Given the description of an element on the screen output the (x, y) to click on. 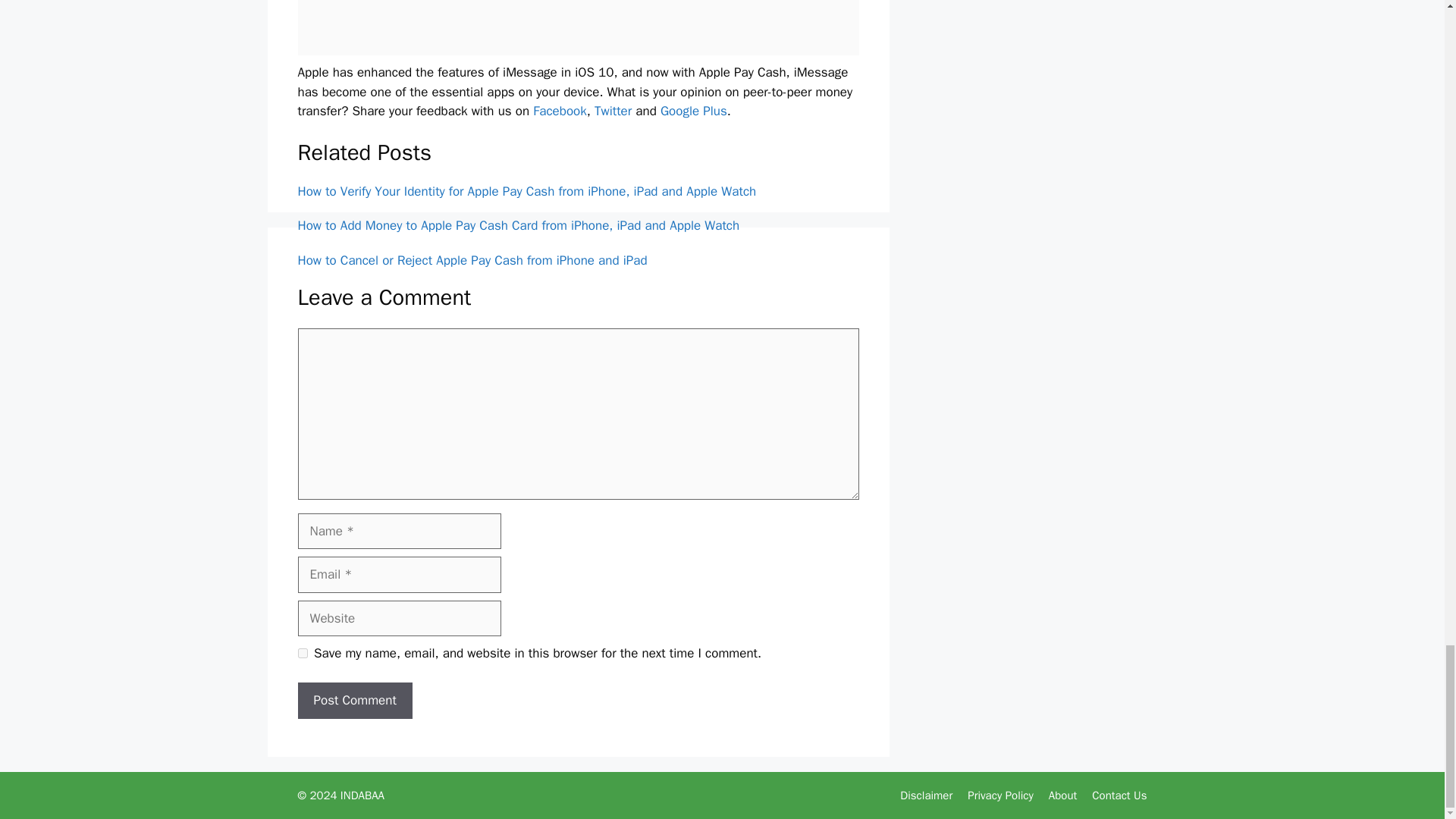
Twitter (612, 110)
Post Comment (354, 700)
Facebook (559, 110)
Google Plus (693, 110)
yes (302, 653)
How to Cancel or Reject Apple Pay Cash from iPhone and iPad (471, 260)
Post Comment (354, 700)
